Given the description of an element on the screen output the (x, y) to click on. 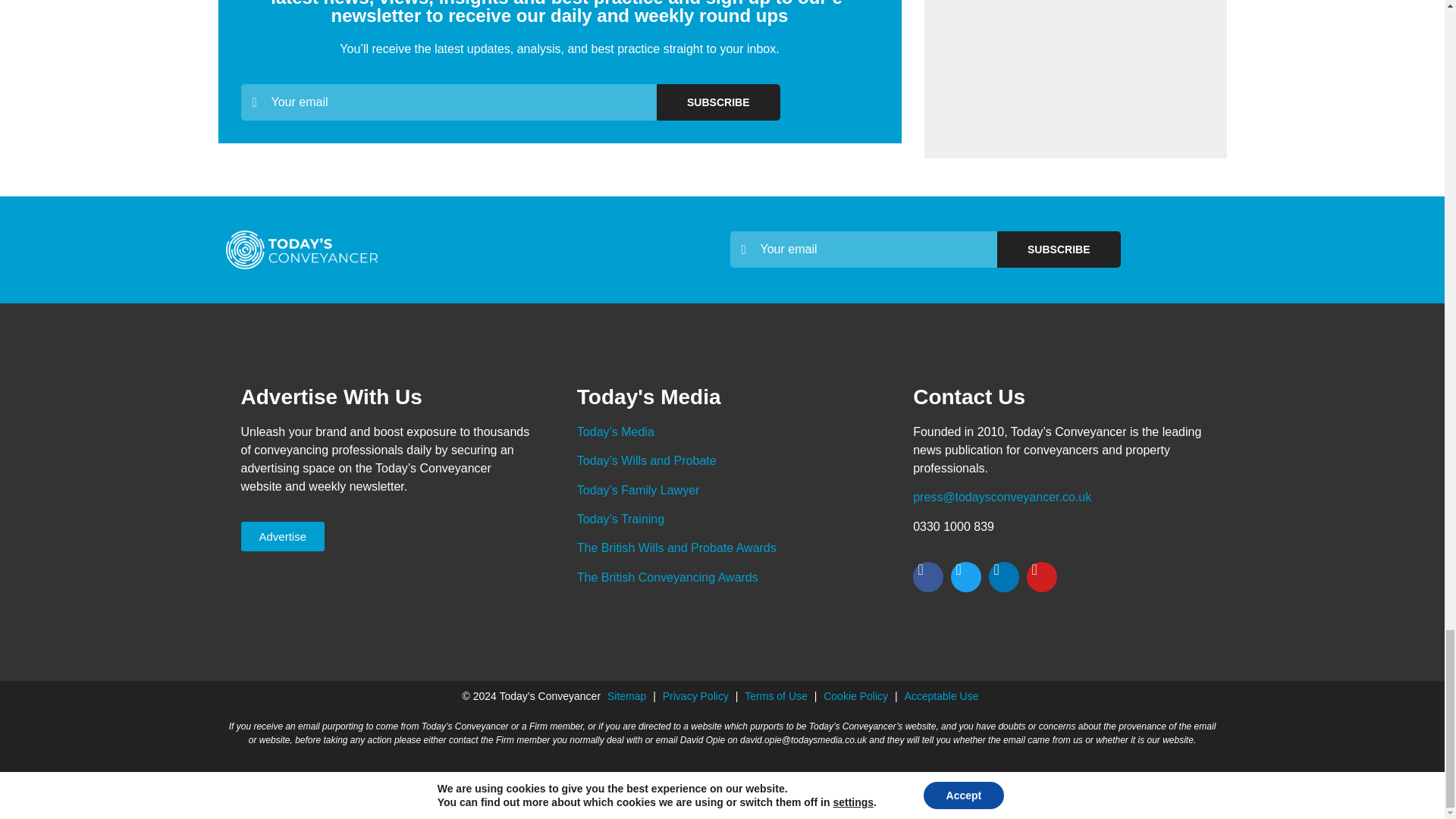
Subscribe (1058, 248)
Subscribe (717, 102)
